Given the description of an element on the screen output the (x, y) to click on. 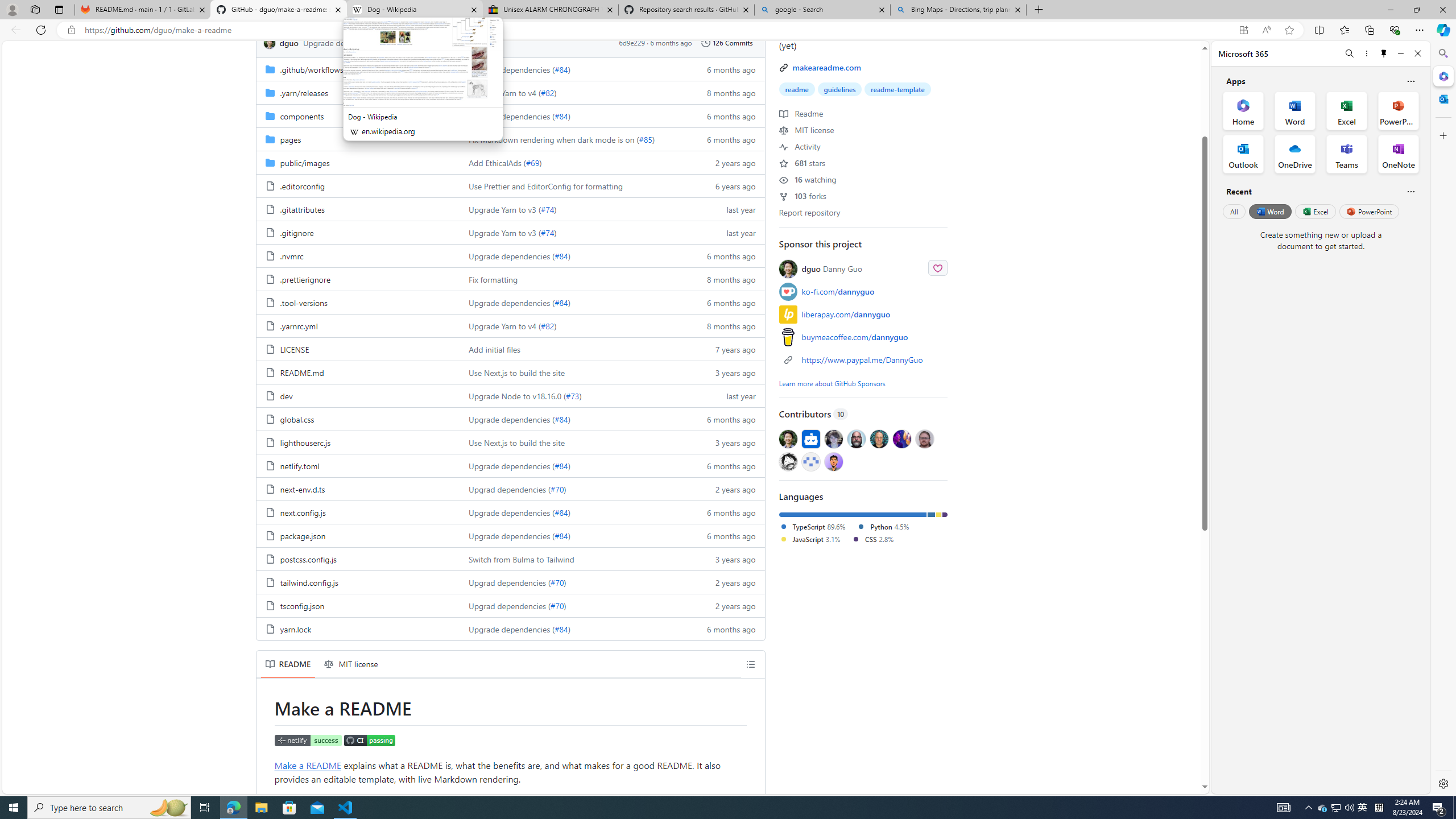
7 years ago (725, 348)
guidelines (838, 88)
#73 (572, 395)
Address and search bar (658, 29)
Search (1442, 53)
AutomationID: folder-row-13 (510, 372)
CSS 2.8% (872, 538)
103 forks (802, 195)
@dguo (787, 438)
App available. Install GitHub (1243, 29)
MIT license (351, 664)
readme-template (897, 88)
Workspaces (34, 9)
Permalink: Make a README (266, 708)
